Given the description of an element on the screen output the (x, y) to click on. 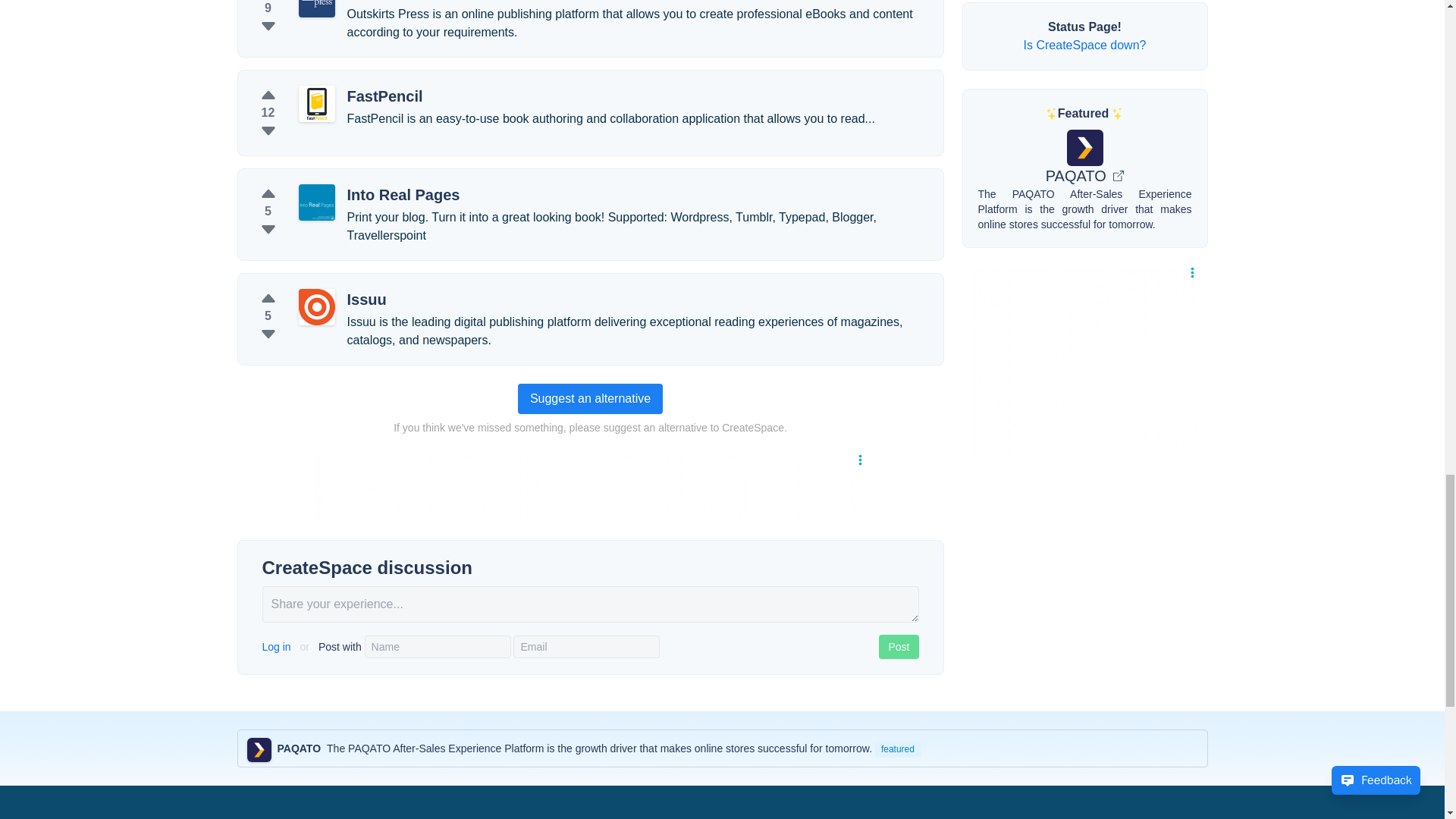
Post (898, 646)
